Given the description of an element on the screen output the (x, y) to click on. 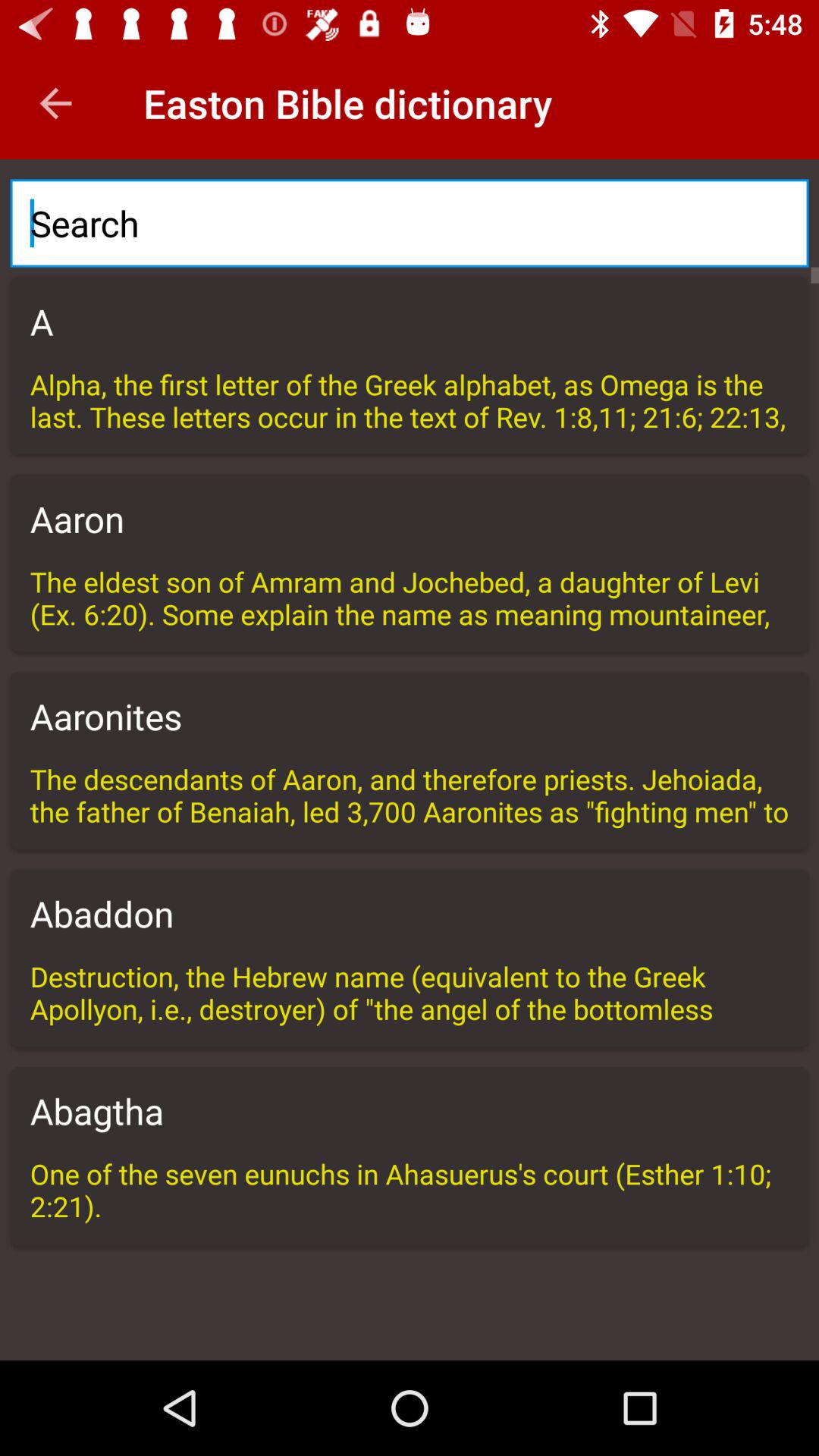
search box (409, 223)
